Given the description of an element on the screen output the (x, y) to click on. 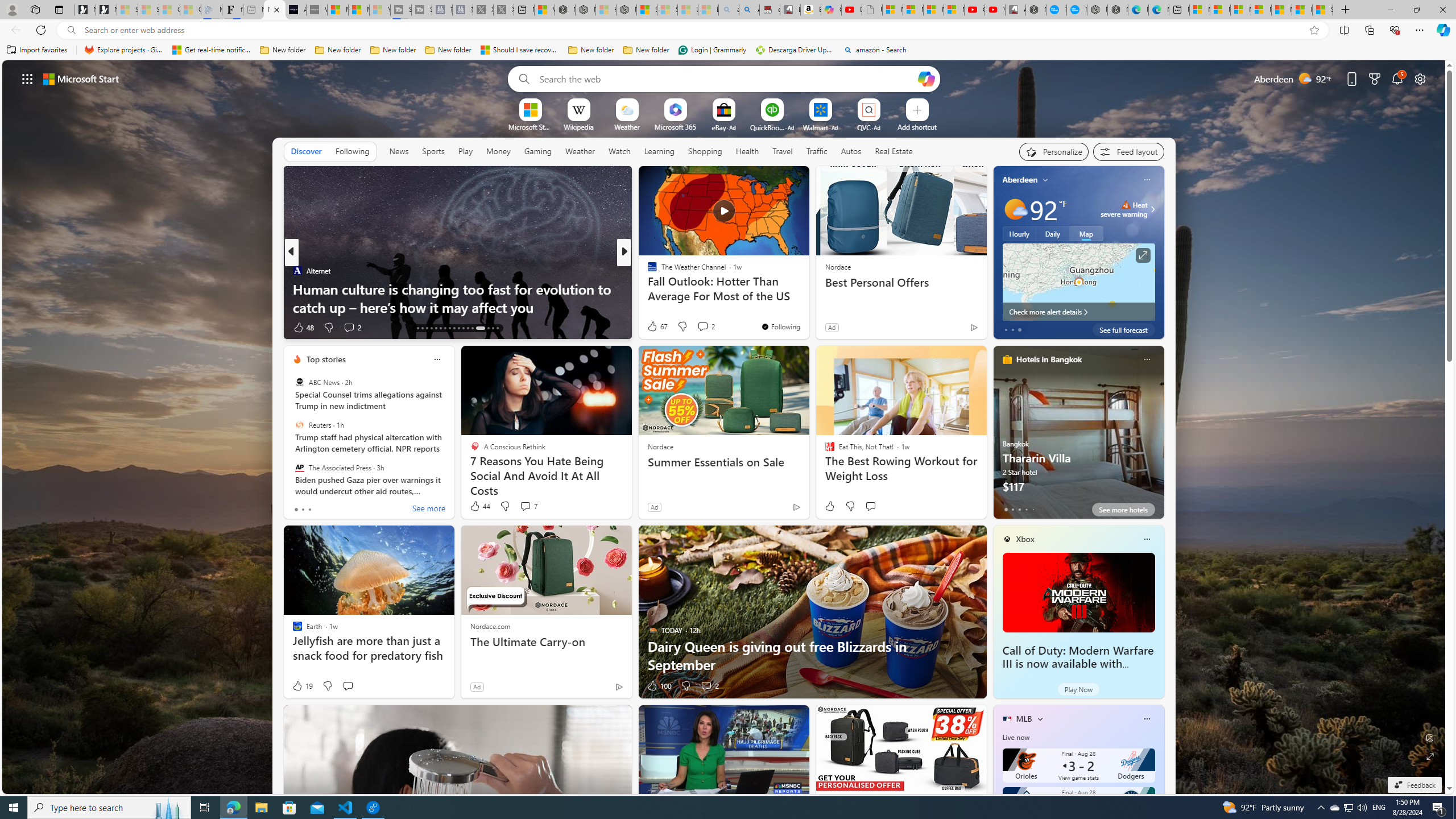
Sports (432, 151)
Microsoft Start (1281, 9)
Import favorites (36, 49)
Hourly (1018, 233)
Class: weather-arrow-glyph (1152, 208)
Class: icon-img (1146, 718)
Page settings (1420, 78)
App bar (728, 29)
Following (352, 151)
Travel (782, 151)
AutomationID: tab-28 (467, 328)
View comments 2 Comment (709, 685)
